Given the description of an element on the screen output the (x, y) to click on. 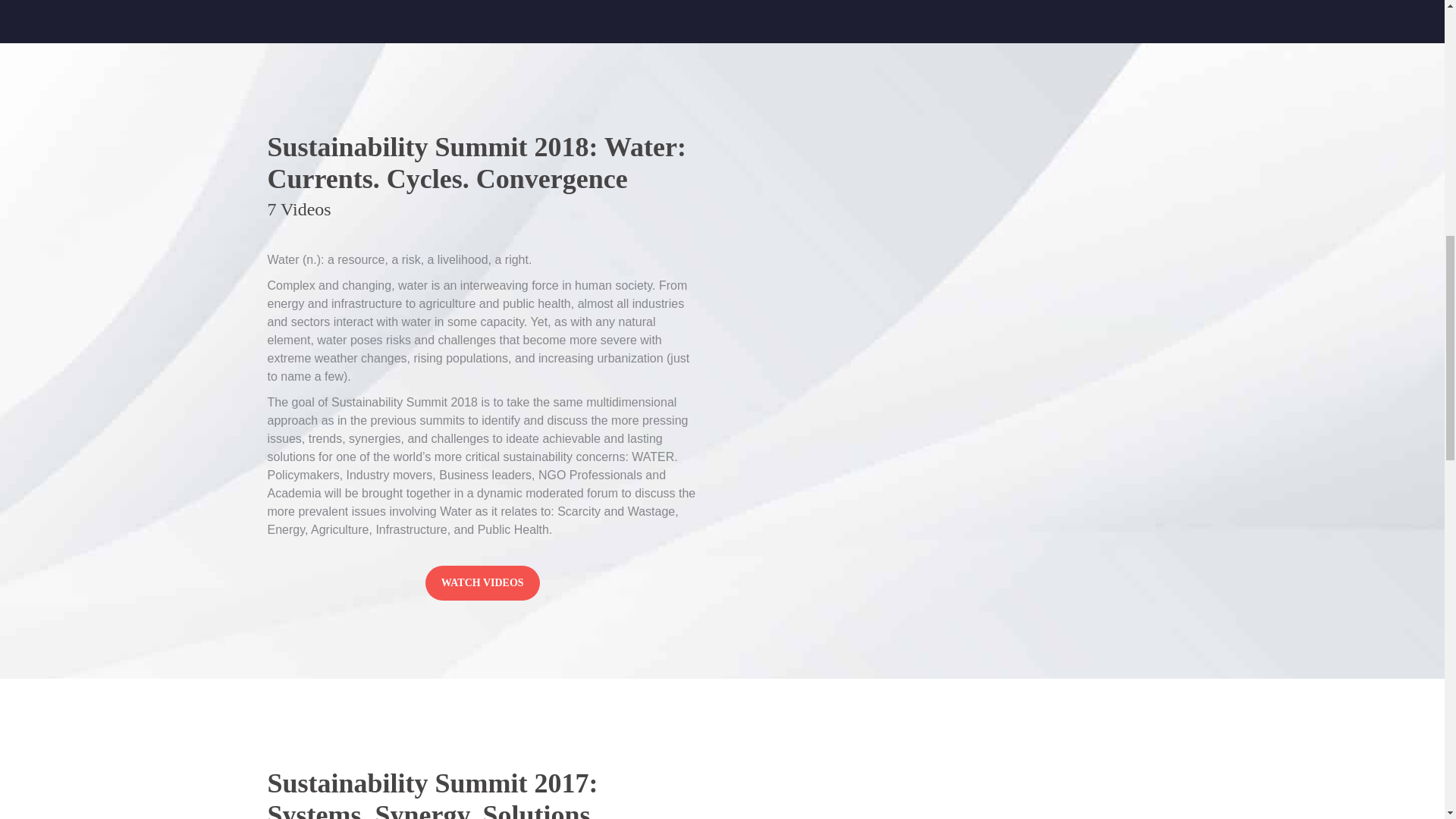
People. Planet. Profit (482, 582)
